Given the description of an element on the screen output the (x, y) to click on. 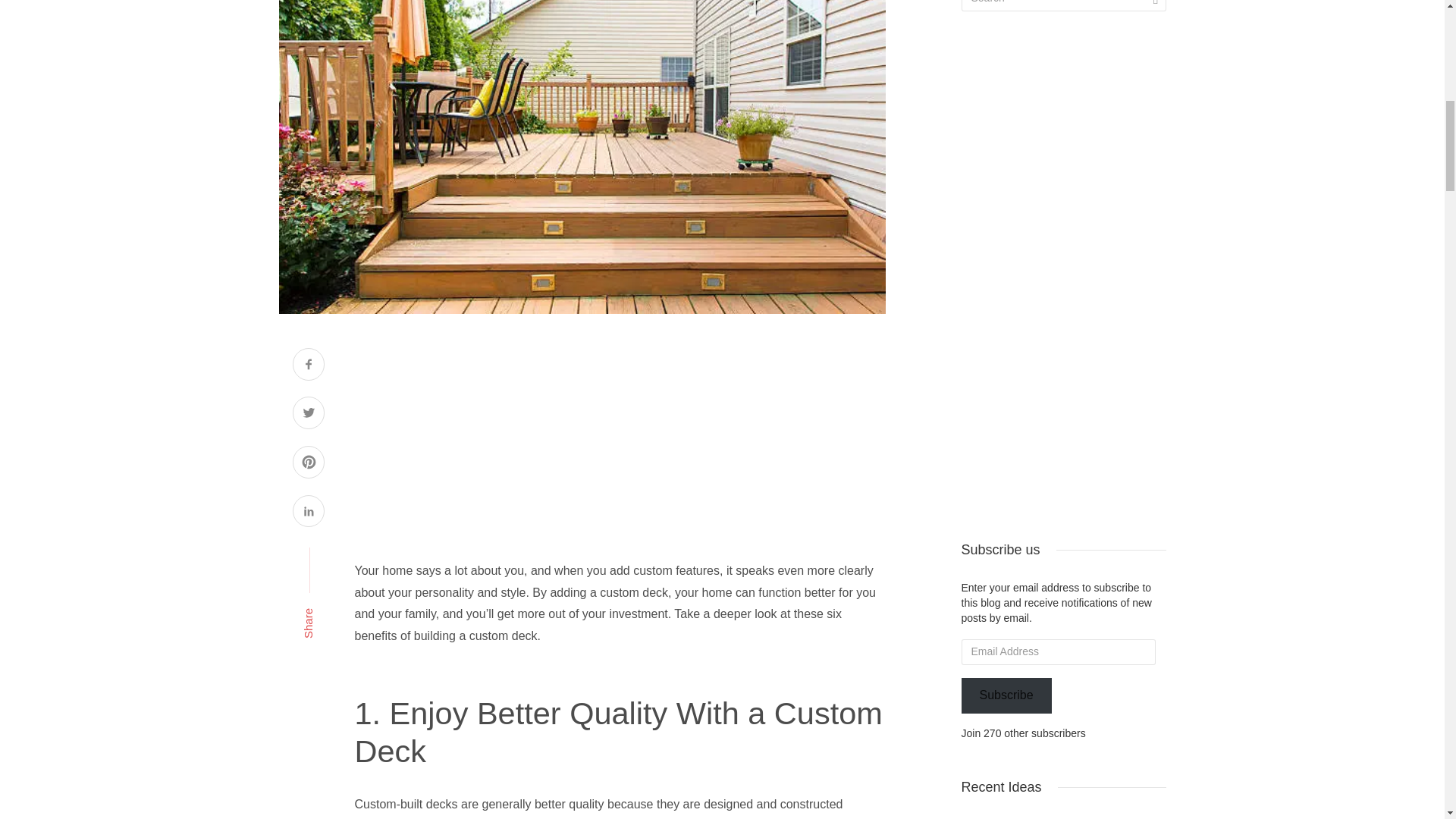
Share on Twitter (308, 414)
Share on Facebook (308, 366)
Share on Pinterest (308, 463)
Advertisement (620, 454)
Share on Linkedin (308, 513)
